Given the description of an element on the screen output the (x, y) to click on. 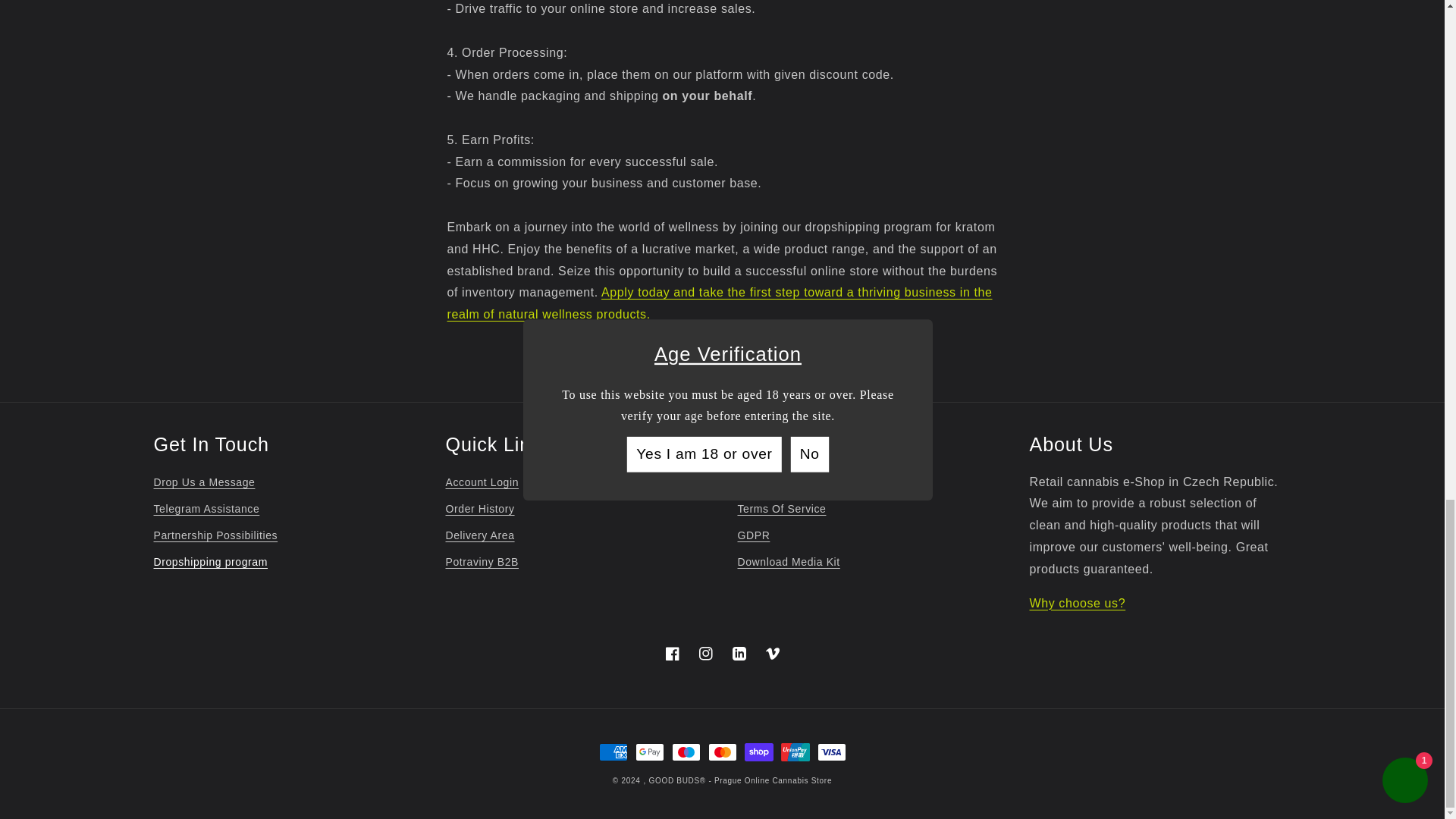
Dropshipping program (209, 561)
Drop Us a Message (203, 484)
Telegram Assistance (205, 509)
Order History (480, 509)
Partnership Possibilities (215, 535)
Potraviny B2B (482, 561)
Legal Notice (769, 484)
Why choose us? (1077, 603)
Delivery Area (480, 535)
Account Login (482, 484)
